Given the description of an element on the screen output the (x, y) to click on. 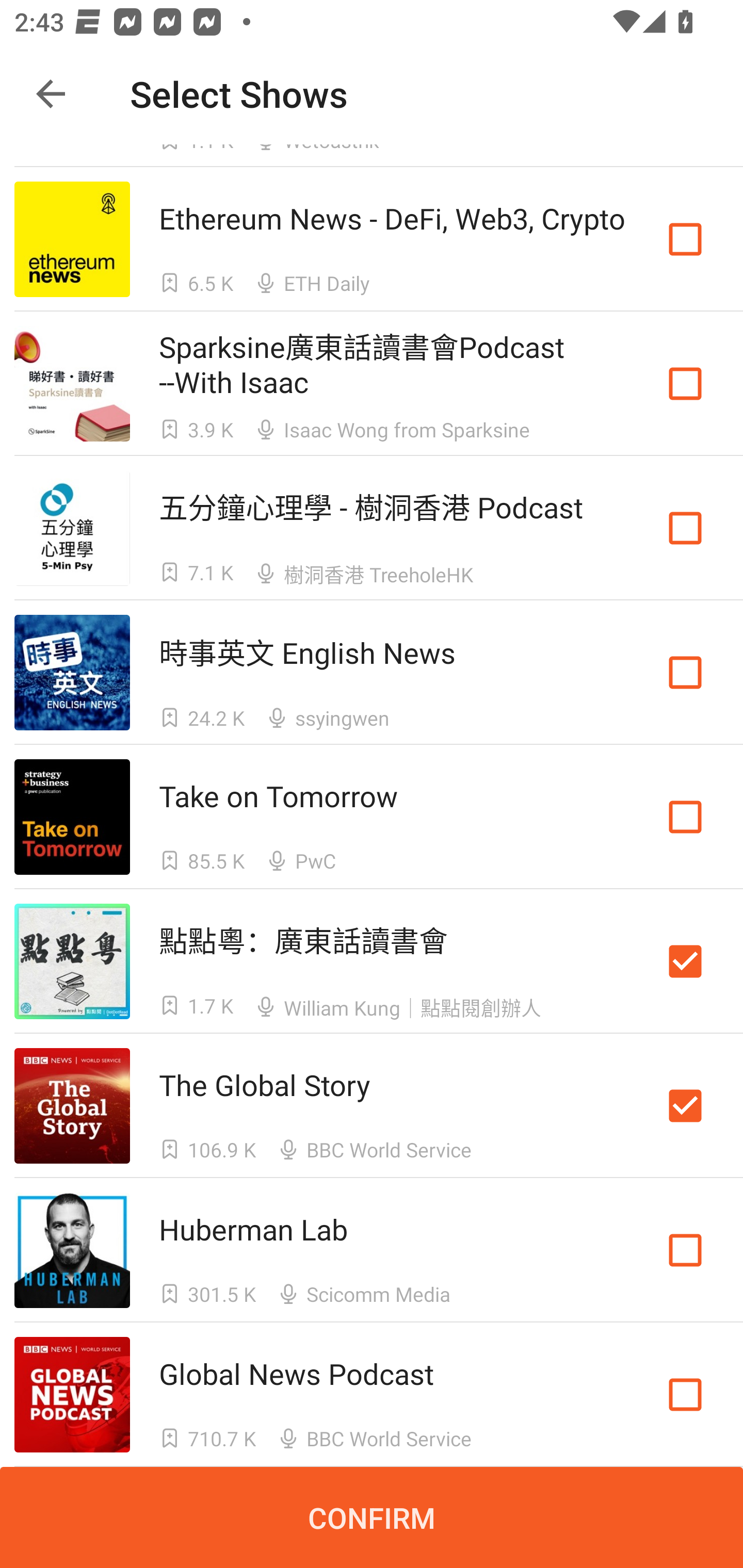
Navigate up (50, 93)
Take on Tomorrow Take on Tomorrow  85.5 K  PwC (371, 816)
CONFIRM (371, 1517)
